Given the description of an element on the screen output the (x, y) to click on. 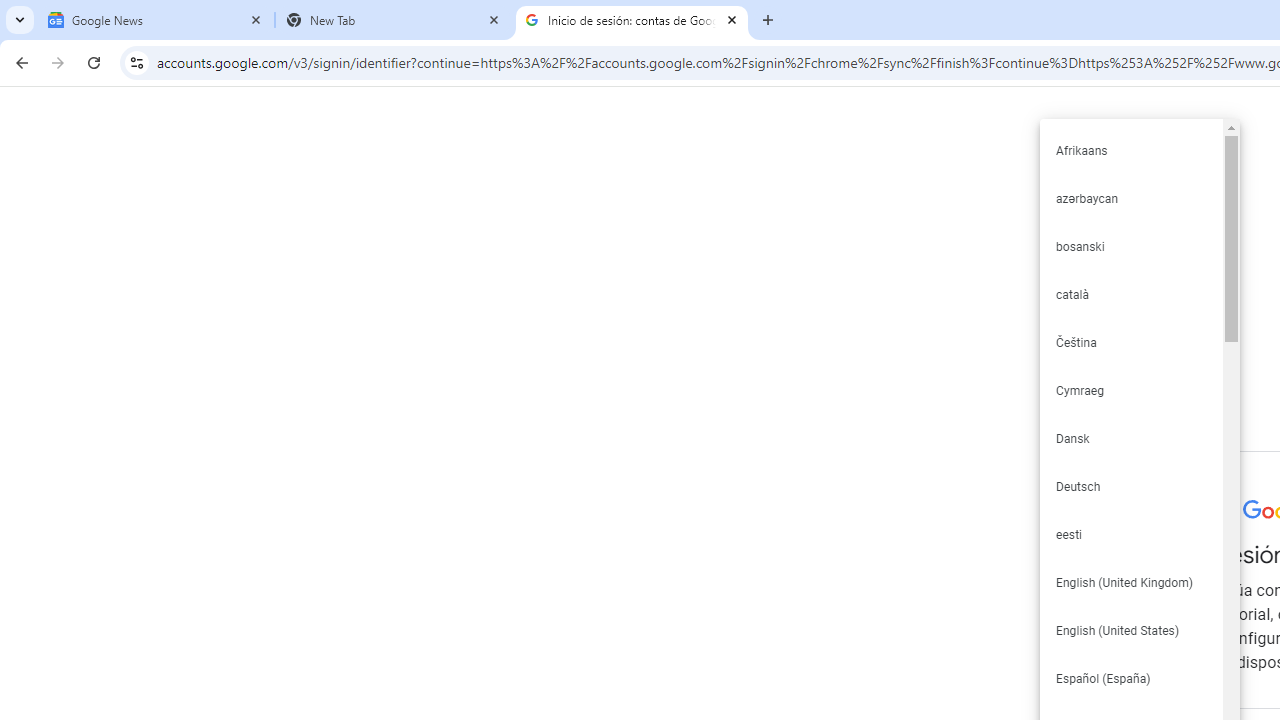
English (United Kingdom) (1130, 582)
Google News (156, 20)
English (United States) (1130, 630)
bosanski (1130, 246)
Reload (93, 62)
Search tabs (20, 20)
View site information (136, 62)
